Given the description of an element on the screen output the (x, y) to click on. 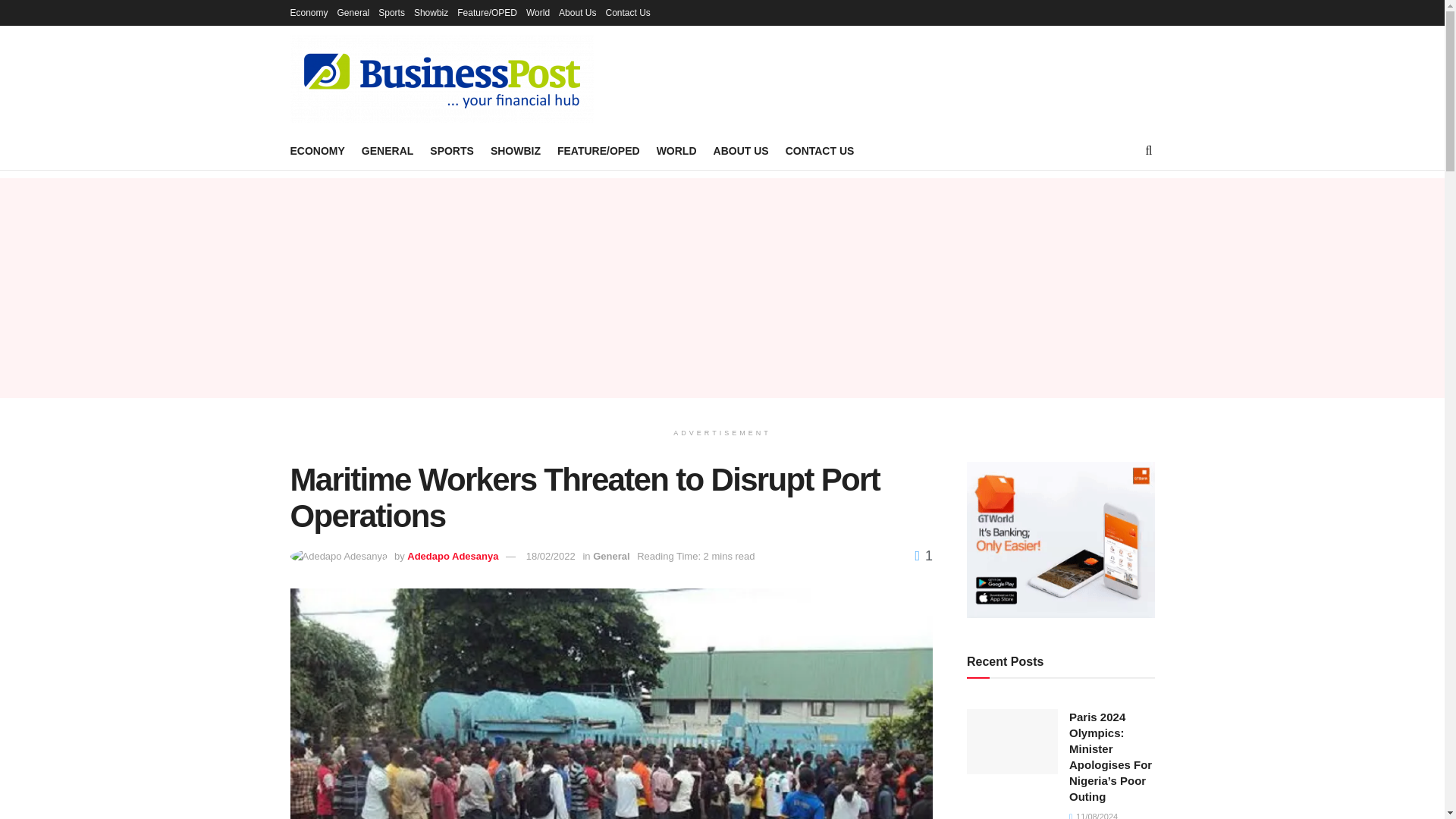
ABOUT US (740, 150)
World (537, 12)
Sports (391, 12)
Economy (308, 12)
Adedapo Adesanya (452, 555)
CONTACT US (820, 150)
General (610, 555)
General (353, 12)
Showbiz (430, 12)
SPORTS (451, 150)
